Given the description of an element on the screen output the (x, y) to click on. 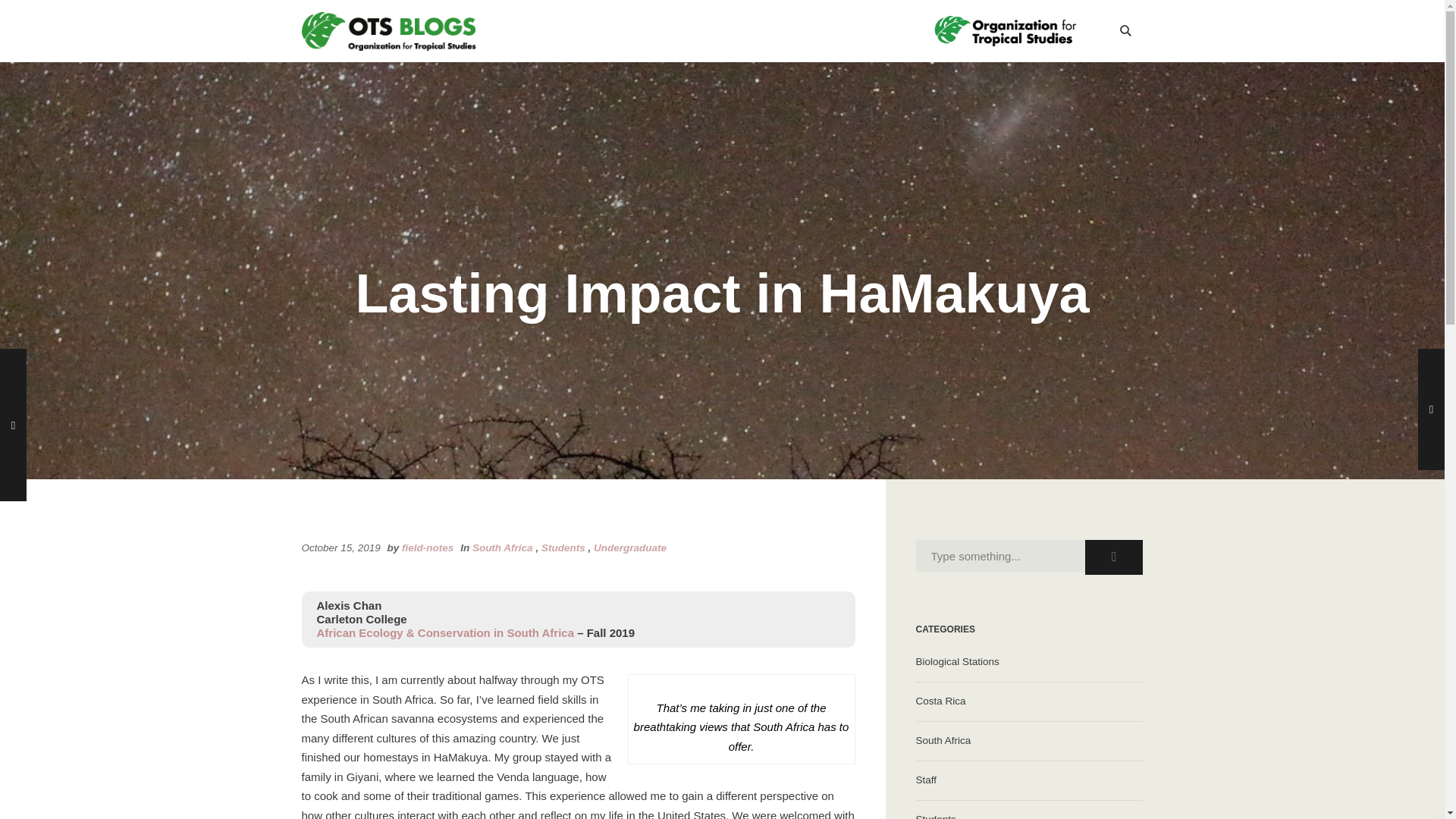
Biological Stations (1028, 661)
South Africa (501, 547)
field-notes (426, 547)
South Africa (1028, 740)
Staff (1028, 780)
Students (1028, 809)
Students (563, 547)
Undergraduate (630, 547)
Costa Rica (1028, 701)
